Given the description of an element on the screen output the (x, y) to click on. 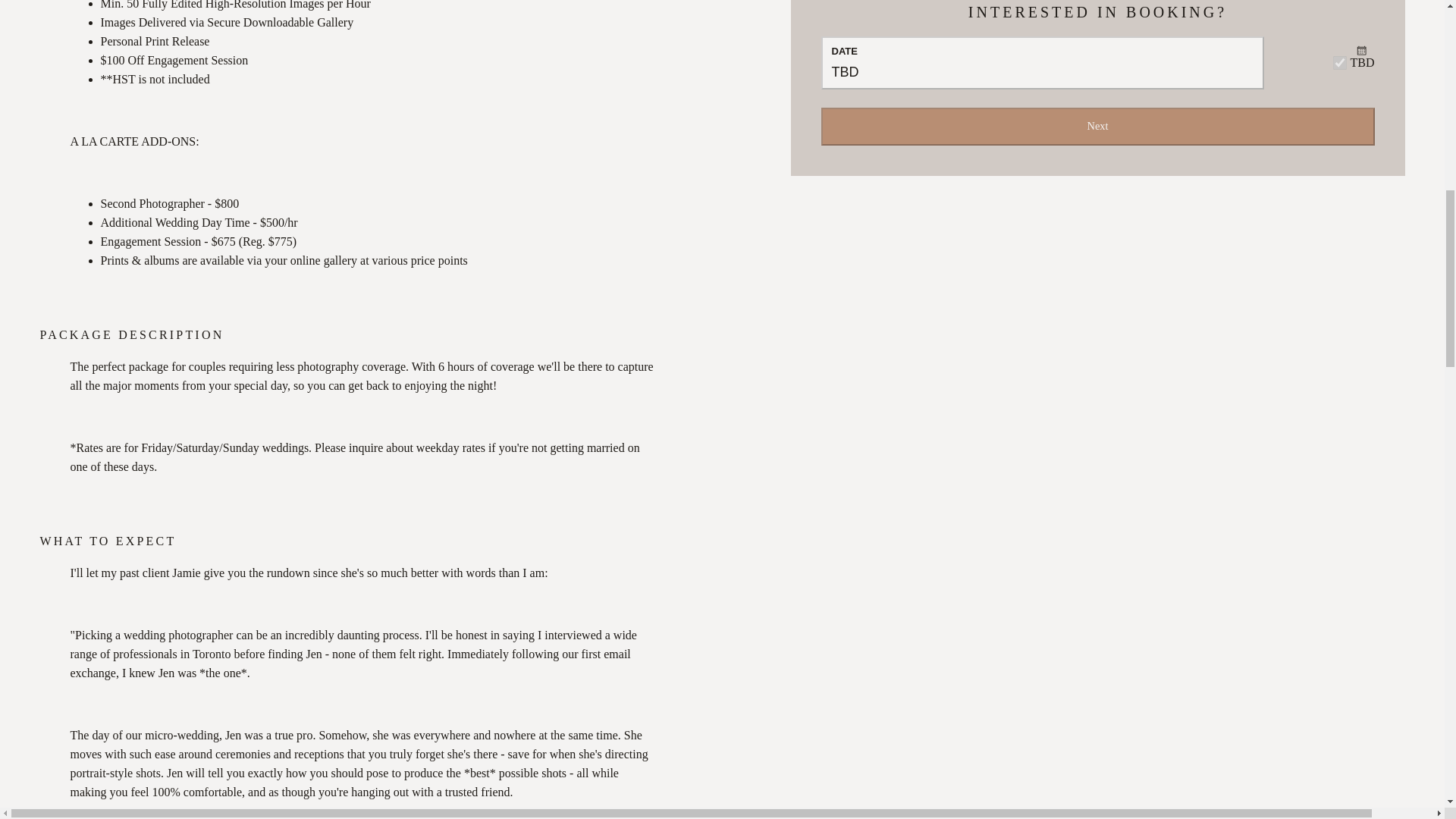
on (1339, 62)
Next (1042, 62)
